Given the description of an element on the screen output the (x, y) to click on. 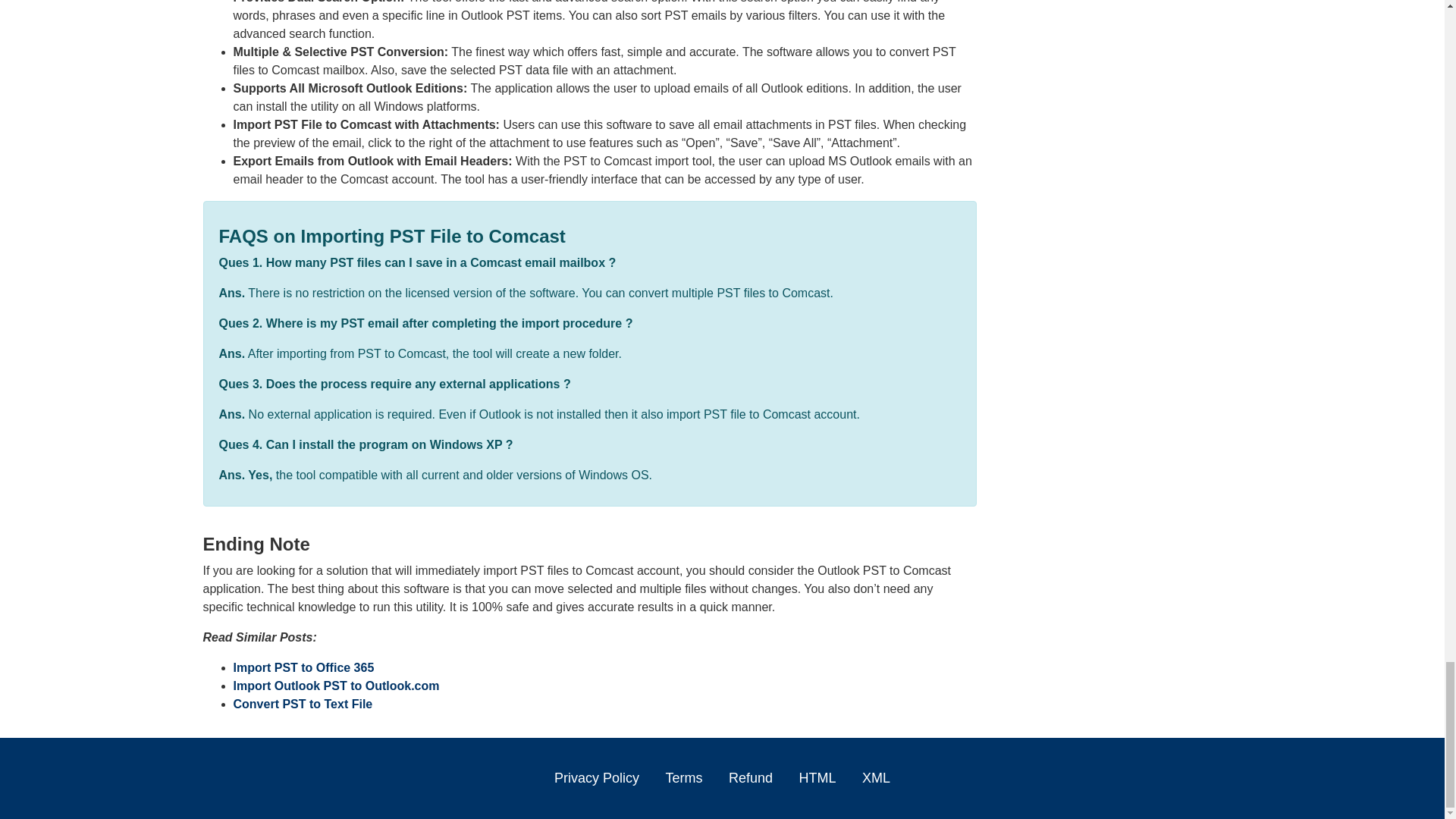
Convert PST to Text File (302, 703)
Import Outlook PST to Outlook.com (335, 685)
Import PST to Office 365 (303, 667)
